Given the description of an element on the screen output the (x, y) to click on. 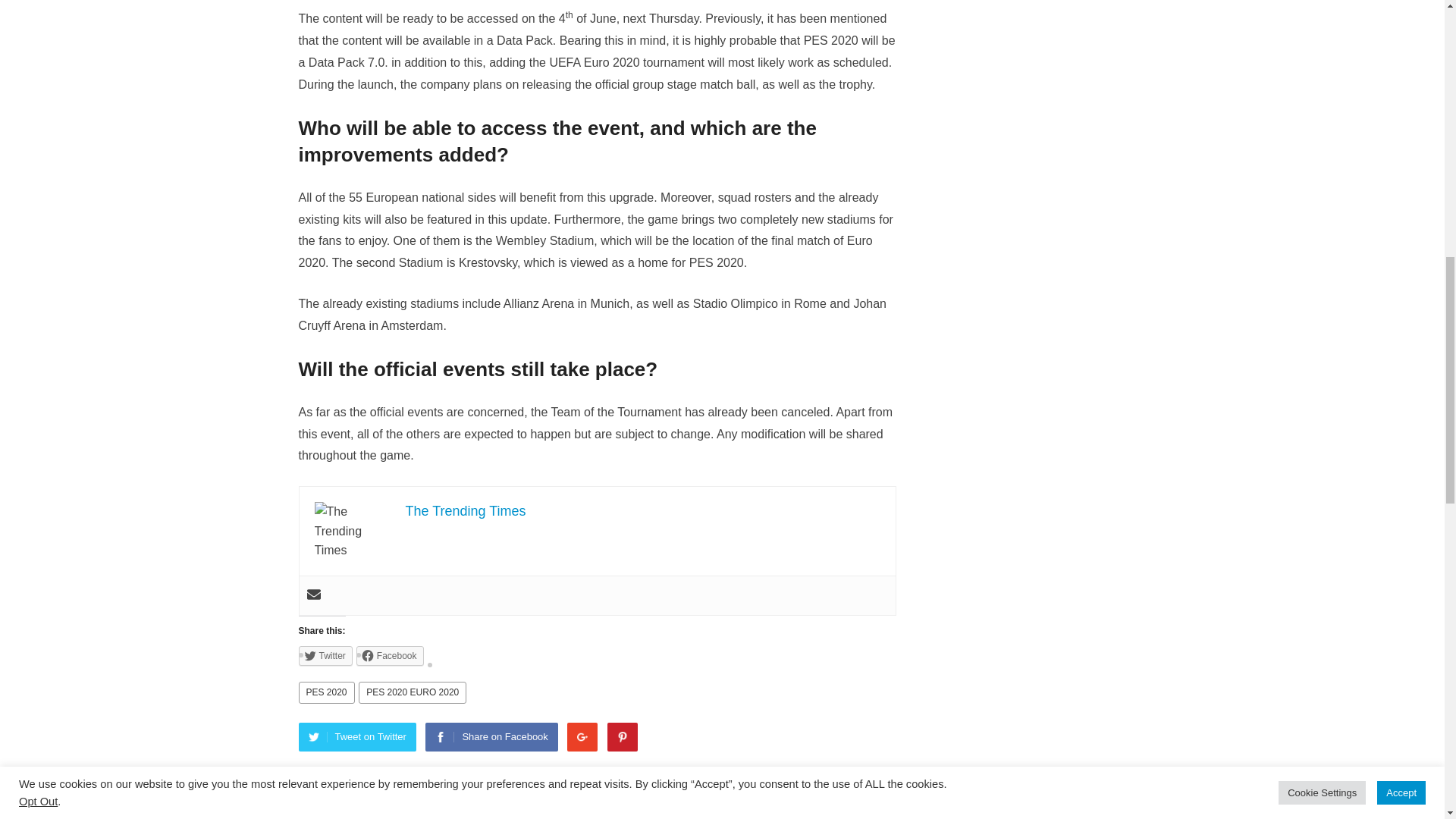
Click to share on Twitter (325, 655)
PES 2020 (326, 692)
The Trending Times (464, 510)
Facebook (389, 655)
PES 2020 EURO 2020 (411, 692)
Click to share on Facebook (389, 655)
Twitter (325, 655)
